Given the description of an element on the screen output the (x, y) to click on. 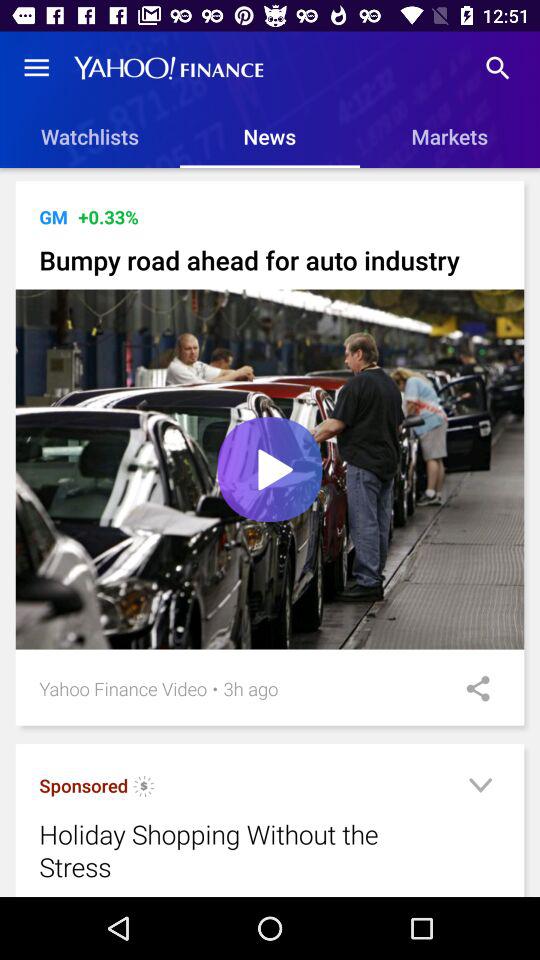
turn off icon below the yahoo finance video icon (83, 785)
